Given the description of an element on the screen output the (x, y) to click on. 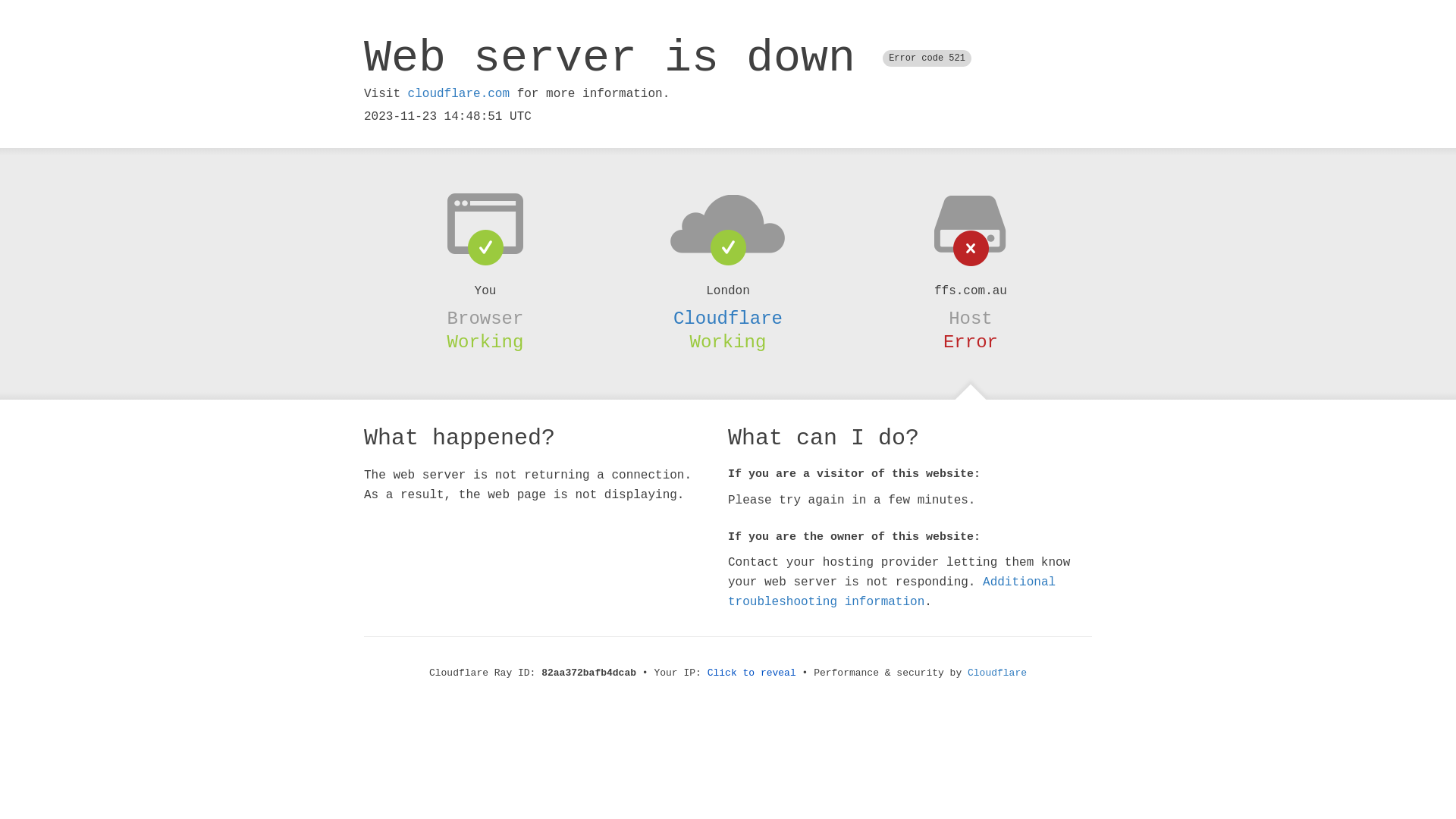
Additional troubleshooting information Element type: text (891, 591)
Click to reveal Element type: text (751, 672)
Cloudflare Element type: text (996, 672)
cloudflare.com Element type: text (458, 93)
Cloudflare Element type: text (727, 318)
